Given the description of an element on the screen output the (x, y) to click on. 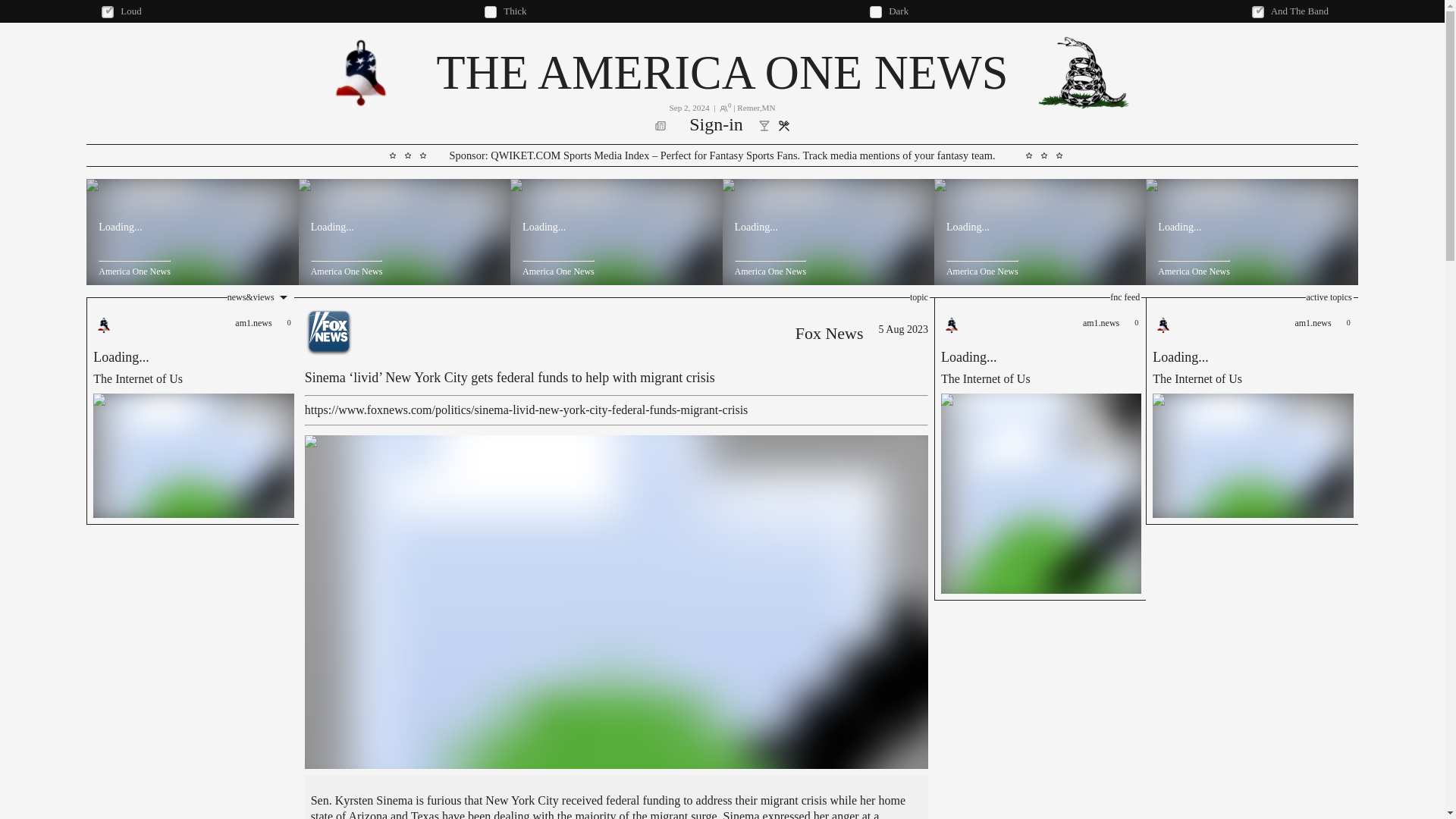
THE AMERICA ONE NEWS (1250, 410)
Sign-in (191, 410)
Fox News (720, 72)
QWIKET.COM (715, 125)
